Given the description of an element on the screen output the (x, y) to click on. 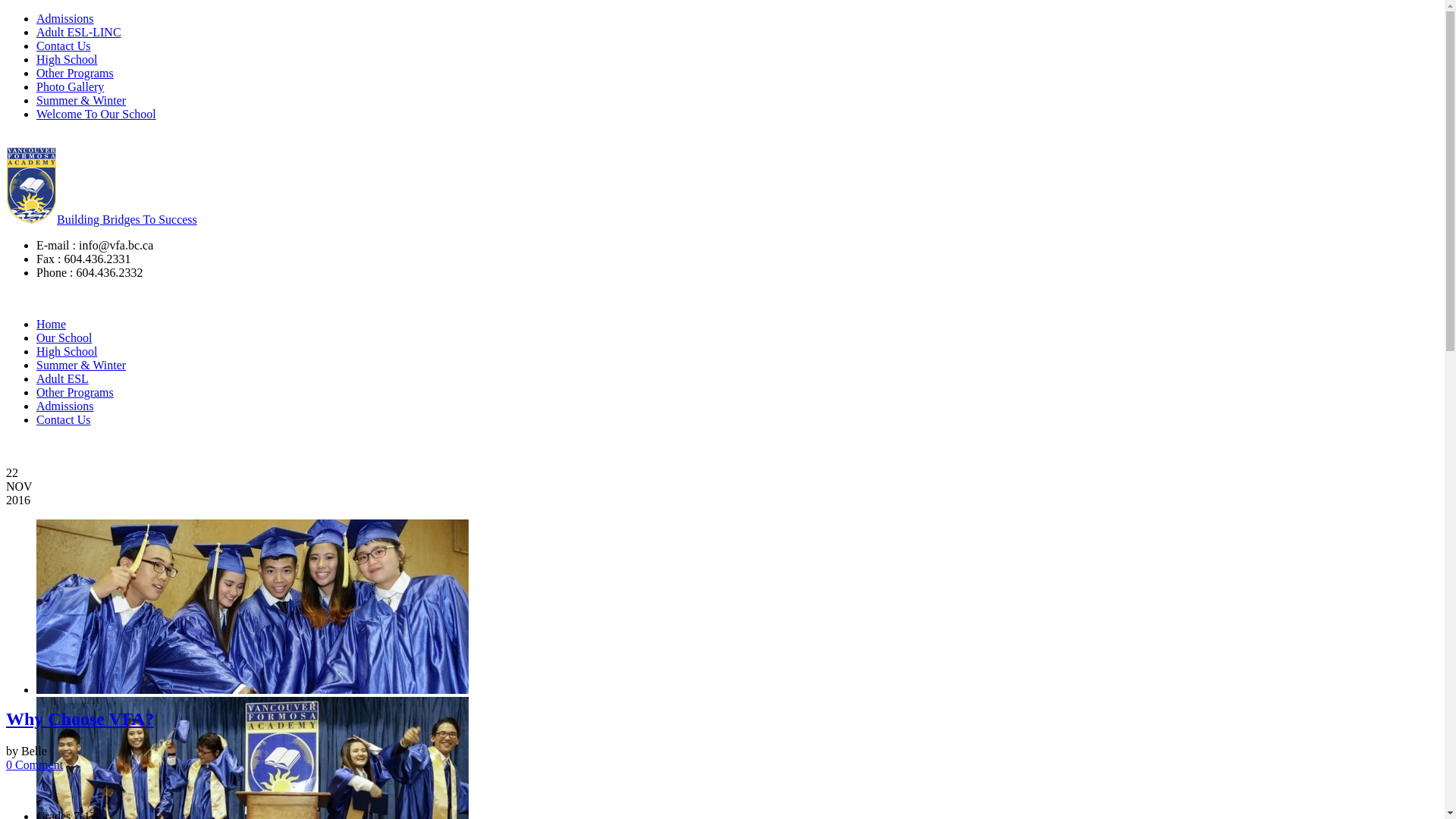
Summer & Winter Element type: text (80, 364)
Admissions Element type: text (65, 18)
Contact Us Element type: text (63, 45)
Home Element type: text (50, 323)
Adult ESL-LINC Element type: text (78, 31)
Adult ESL Element type: text (62, 378)
High School Element type: text (66, 59)
Contact Us Element type: text (63, 419)
Admissions Element type: text (65, 405)
Why Choose VFA? Element type: text (79, 718)
Building Bridges To Success Element type: text (101, 219)
Other Programs Element type: text (74, 391)
High School Element type: text (66, 351)
Summer & Winter Element type: text (80, 100)
0 Comment Element type: text (34, 764)
Welcome To Our School Element type: text (96, 113)
Our School Element type: text (63, 337)
Photo Gallery Element type: text (69, 86)
Other Programs Element type: text (74, 72)
